Given the description of an element on the screen output the (x, y) to click on. 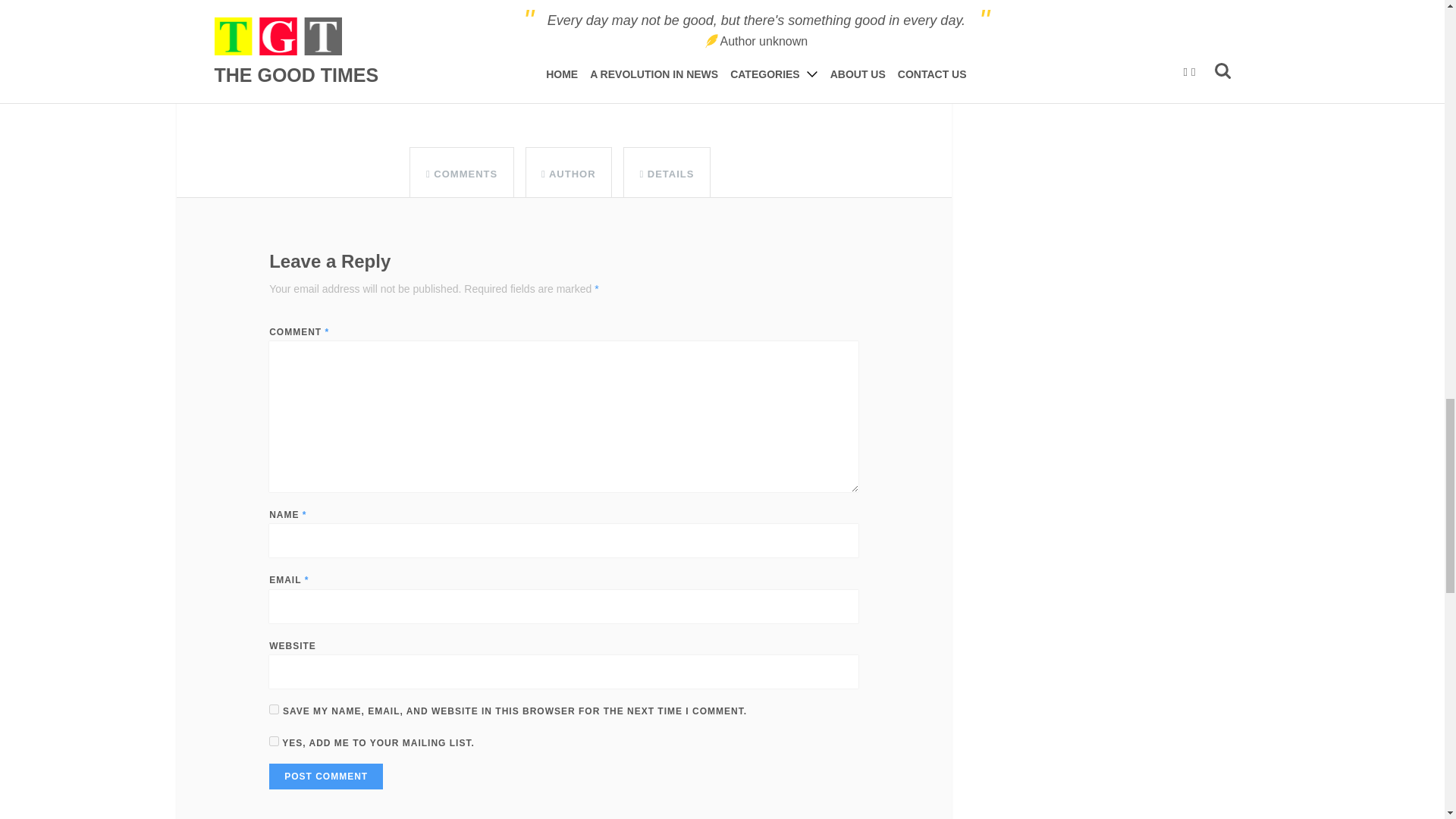
DETAILS (666, 173)
yes (274, 709)
All About Earth Day (431, 74)
COMMENTS (461, 173)
10 awesome eco-activities to do this Earth Day (496, 33)
Post Comment (325, 776)
1 (274, 741)
AUTHOR (568, 173)
Post Comment (325, 776)
10 Earth Day Activities to Celebrate Our Planet (541, 54)
